Given the description of an element on the screen output the (x, y) to click on. 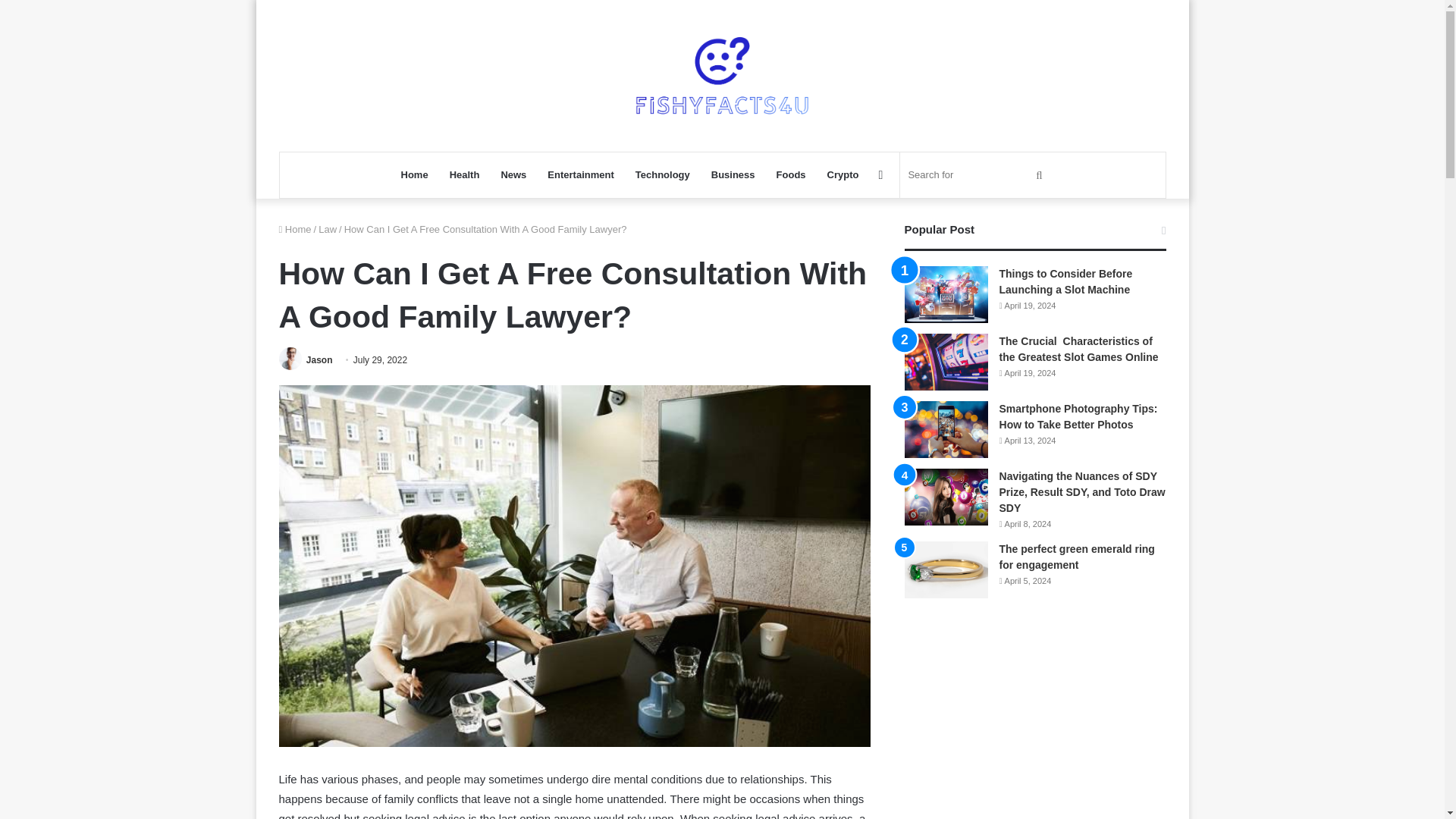
Foods (790, 175)
Jason (319, 359)
News (513, 175)
Home (414, 175)
Entertainment (580, 175)
Business (732, 175)
Health (464, 175)
Home (295, 229)
Law (327, 229)
Crypto (842, 175)
